Given the description of an element on the screen output the (x, y) to click on. 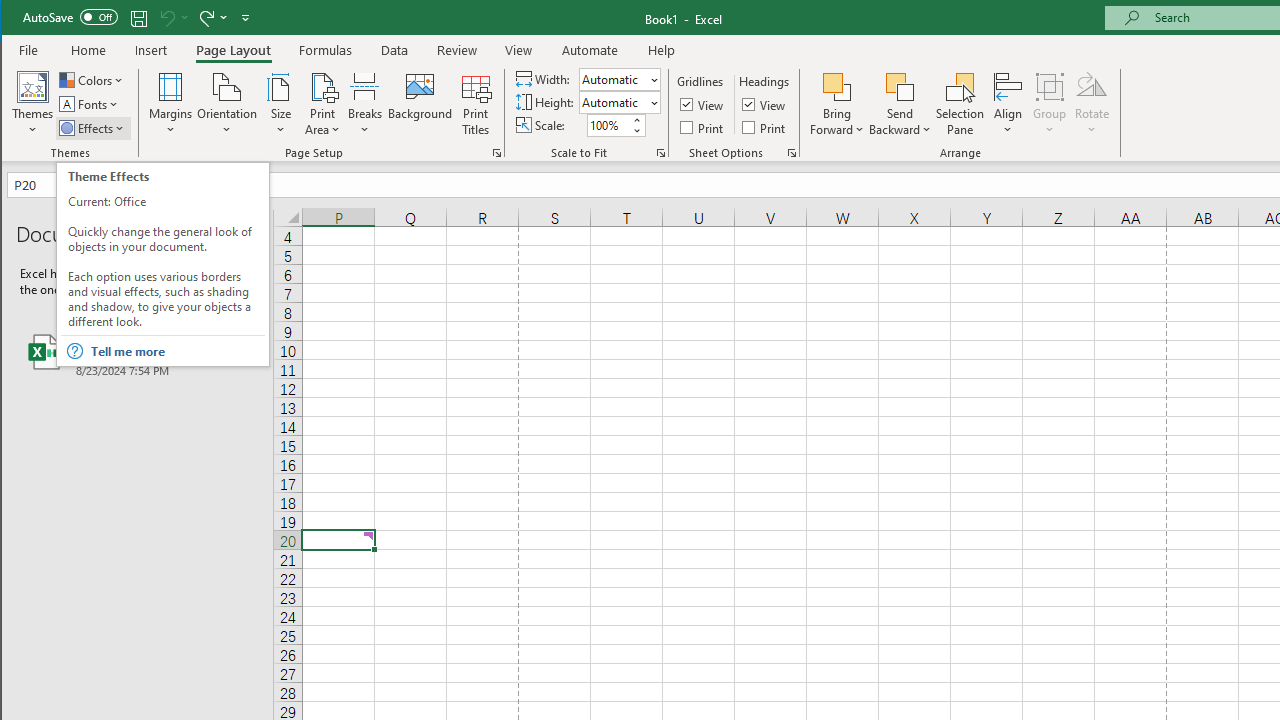
Effects (93, 127)
Send Backward (900, 86)
Print (765, 126)
Width (612, 79)
Print Area (323, 104)
